Given the description of an element on the screen output the (x, y) to click on. 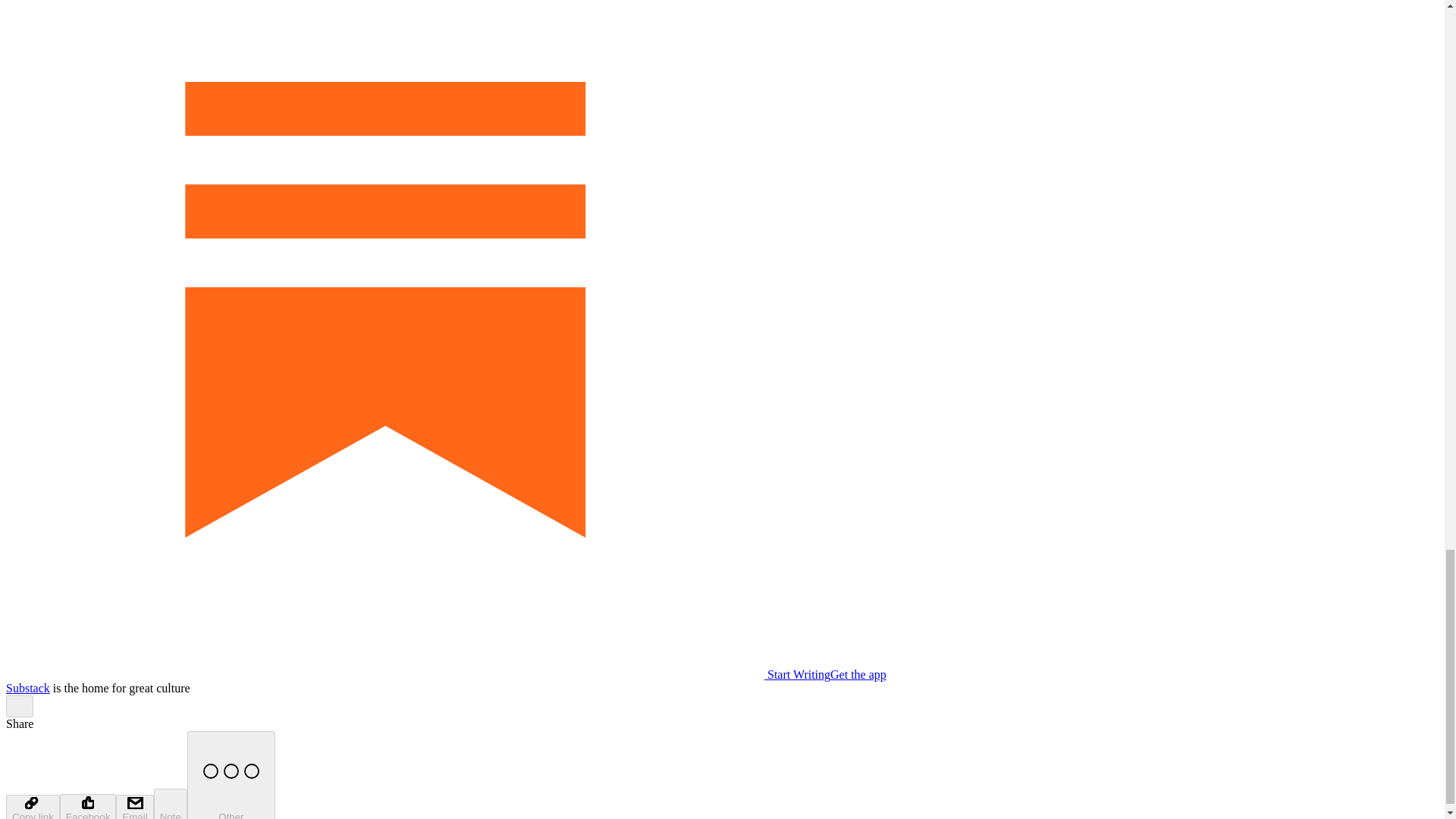
Start Writing (417, 674)
Get the app (857, 674)
Substack (27, 687)
